Given the description of an element on the screen output the (x, y) to click on. 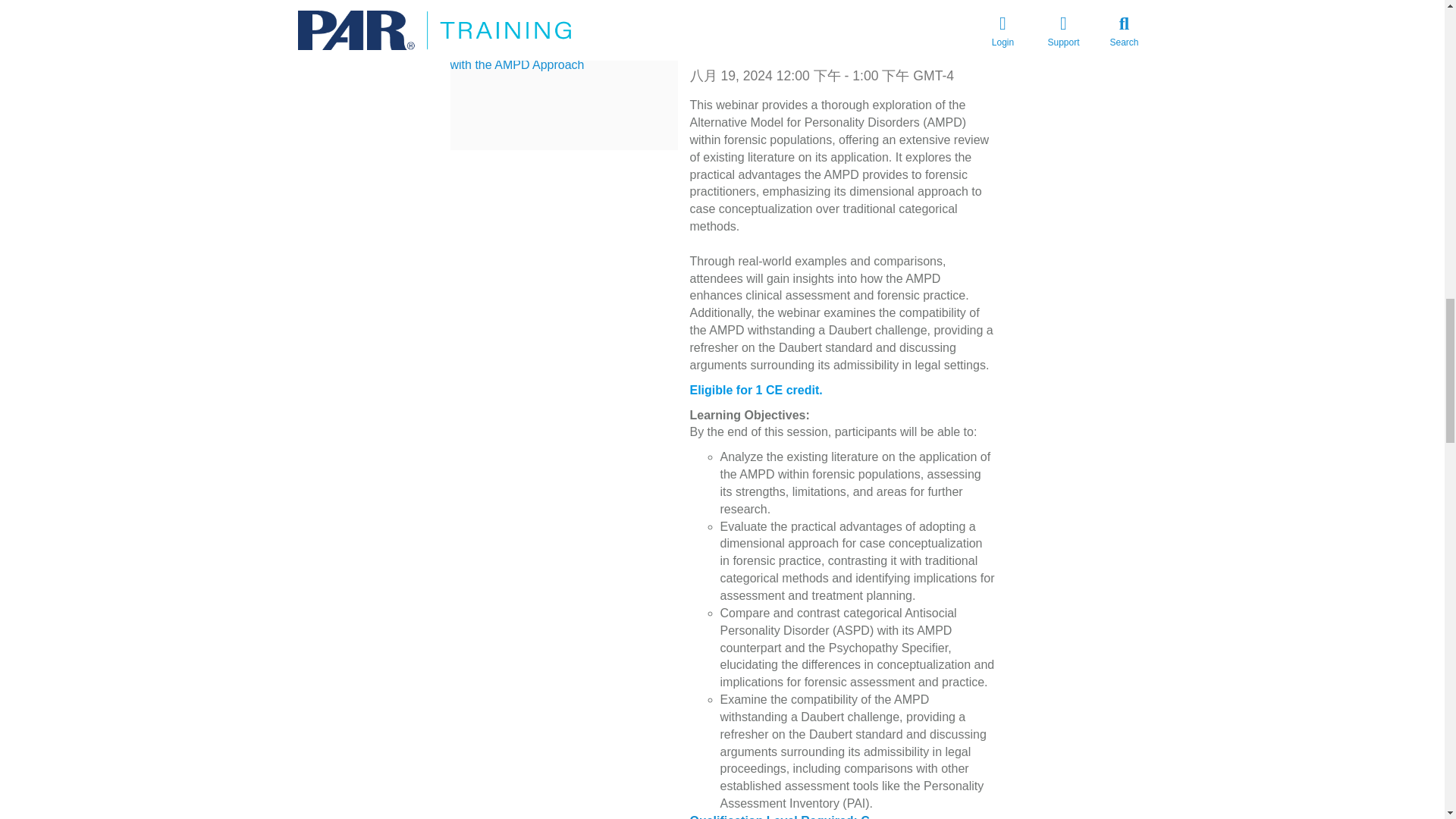
Qualification Level Required: C (779, 816)
